Given the description of an element on the screen output the (x, y) to click on. 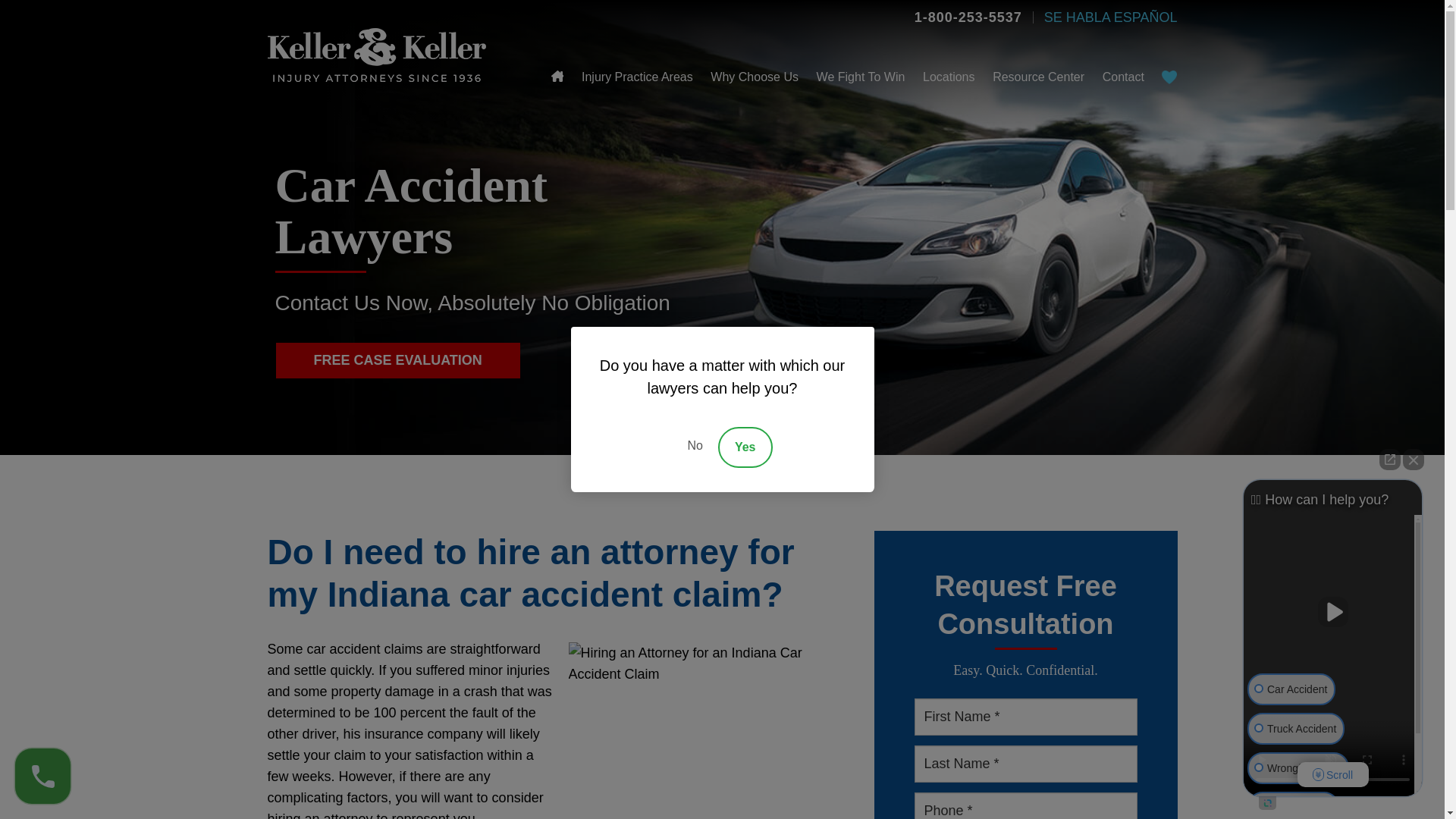
Locations (949, 77)
We Fight To Win (860, 77)
Injury Practice Areas (636, 77)
1-800-253-5537 (968, 17)
Why Choose Us (753, 77)
